Given the description of an element on the screen output the (x, y) to click on. 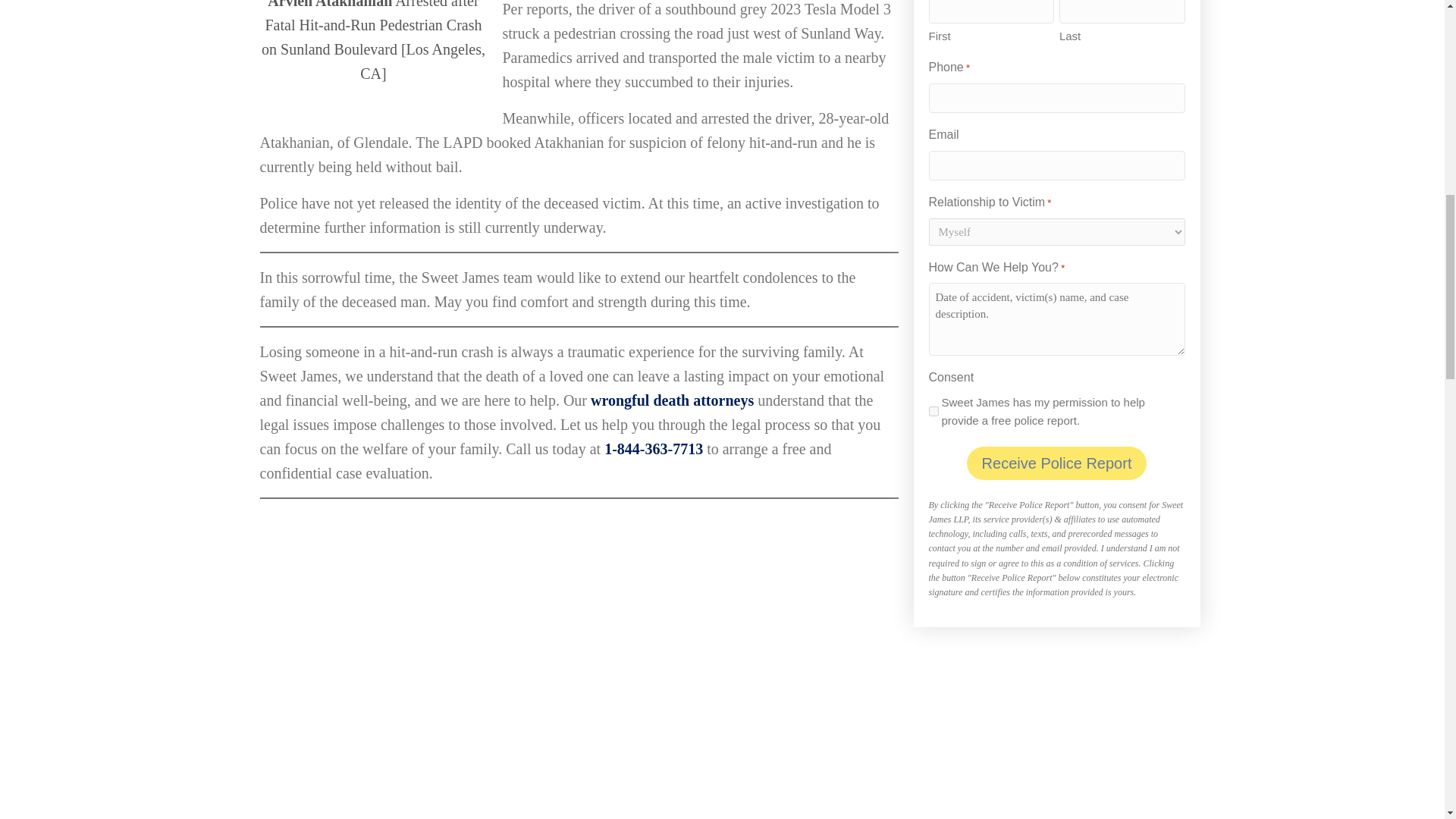
1-844-363-7713 (653, 447)
Receive Police Report (1056, 462)
Receive Police Report (1056, 462)
wrongful death attorneys (672, 399)
